Given the description of an element on the screen output the (x, y) to click on. 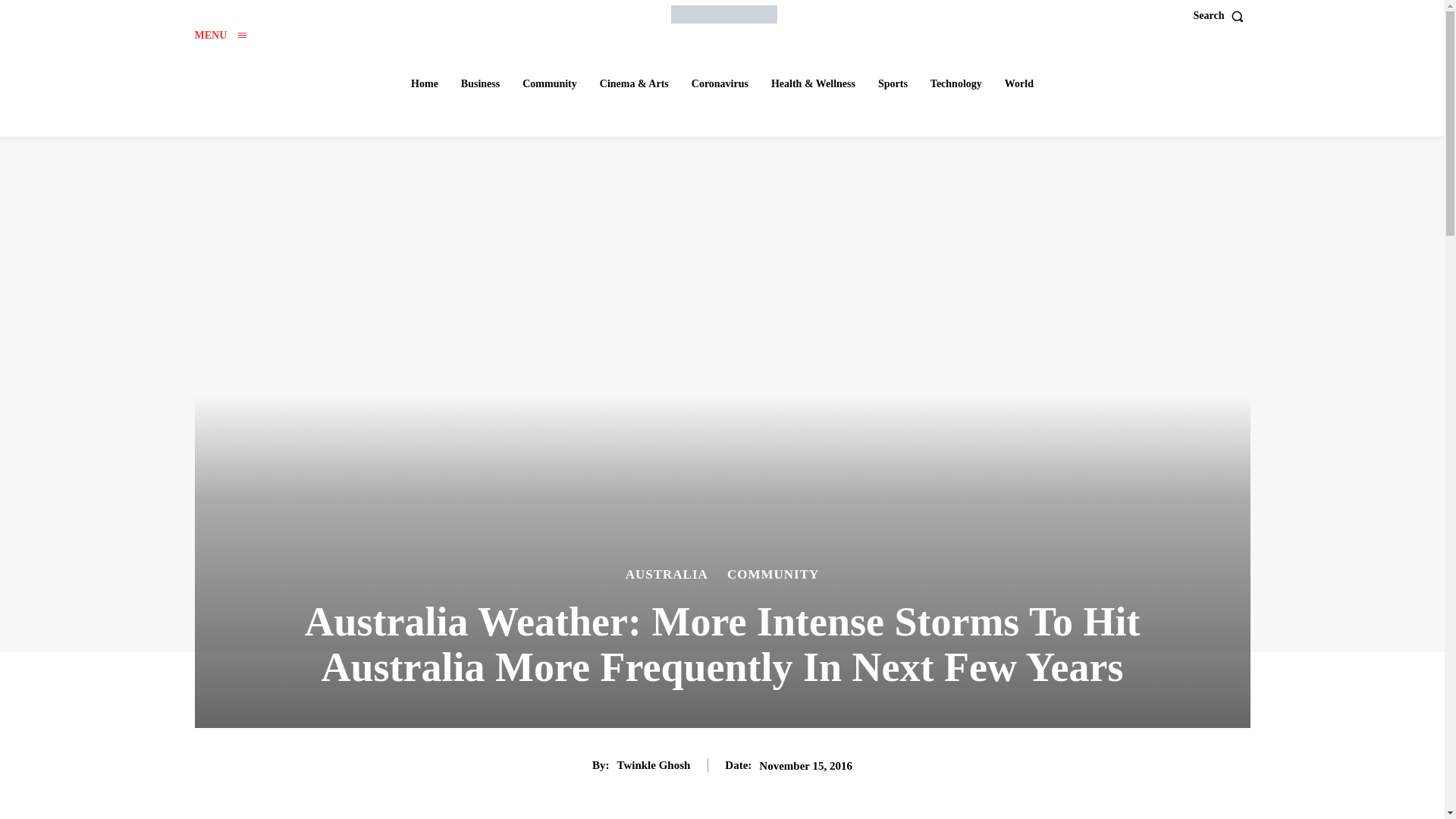
Search (1221, 15)
The Indian Telegraph (724, 13)
World (1019, 83)
Home (424, 83)
Technology (956, 83)
Community (550, 83)
Coronavirus (719, 83)
Sports (892, 83)
MENU (220, 34)
Business (479, 83)
